Given the description of an element on the screen output the (x, y) to click on. 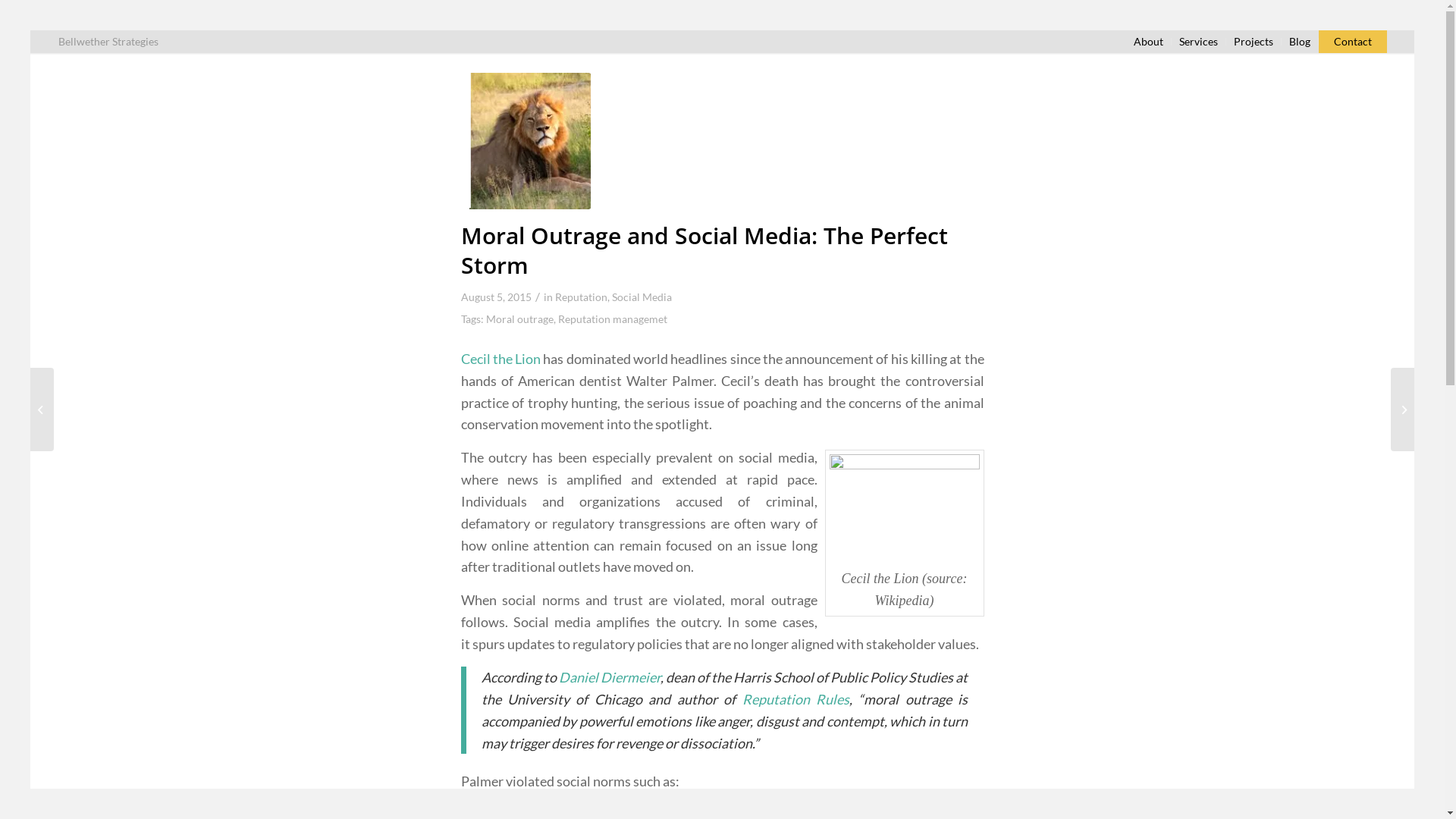
Moral Outrage and Social Media: The Perfect Storm Element type: text (704, 249)
Contact Element type: text (1351, 41)
Reputation Element type: text (581, 296)
Social Media Element type: text (641, 296)
Services Element type: text (1197, 41)
Blog Element type: text (1299, 41)
Bellwether Strategies Element type: text (107, 40)
About Element type: text (1147, 41)
Reputation managemet Element type: text (612, 318)
Projects Element type: text (1252, 41)
Moral Outrage and Social Media: The Perfect Storm Element type: hover (523, 140)
Daniel Diermeier Element type: text (609, 676)
Moral outrage Element type: text (518, 318)
Cecil the Lion Element type: text (501, 358)
Reputation Rules Element type: text (794, 698)
